Given the description of an element on the screen output the (x, y) to click on. 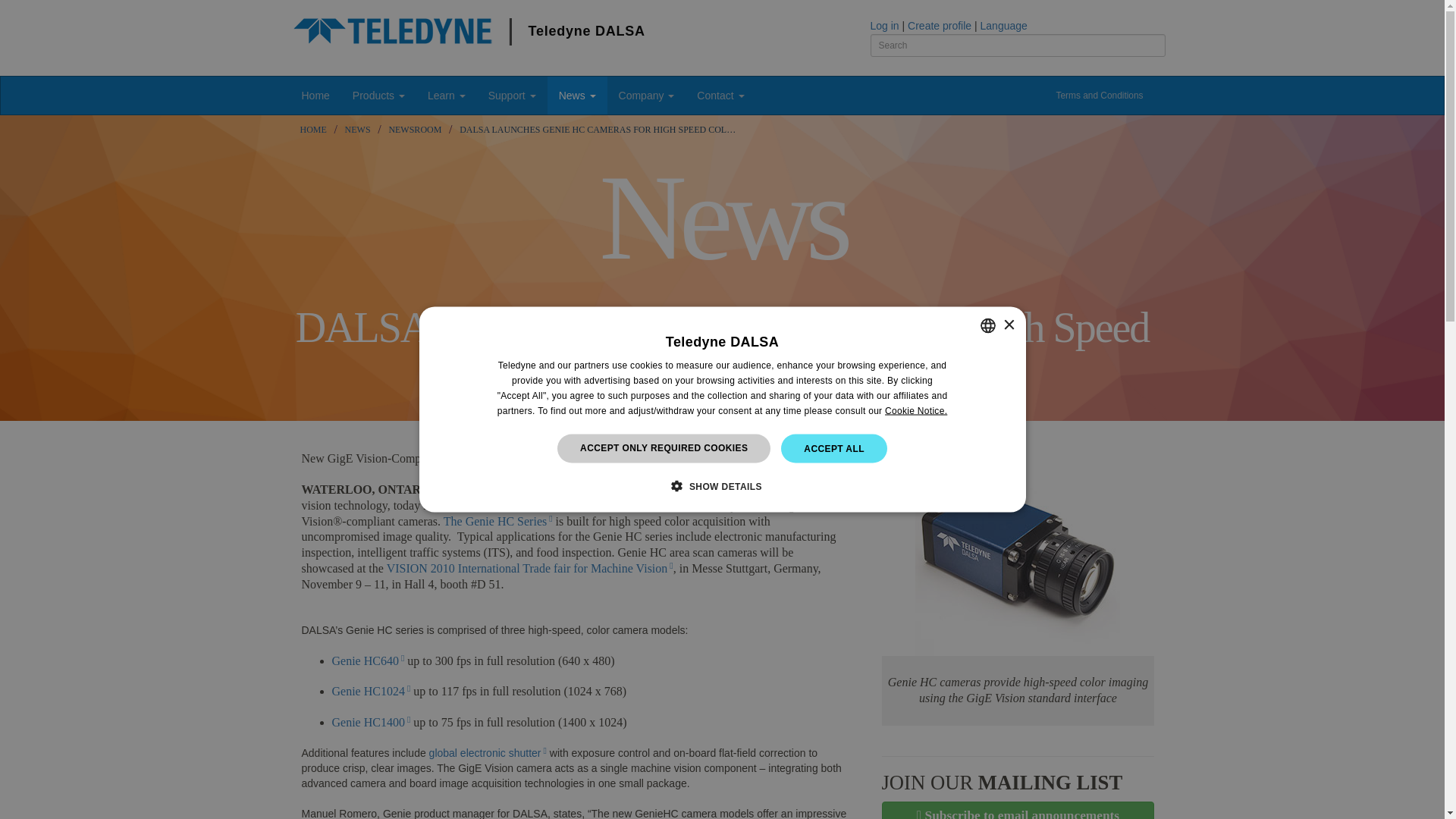
Log in (884, 25)
Home (314, 95)
Learn (446, 95)
Products (378, 95)
Support (512, 95)
Create profile (939, 25)
News (357, 129)
Newsroom (414, 129)
Language (1003, 25)
